Given the description of an element on the screen output the (x, y) to click on. 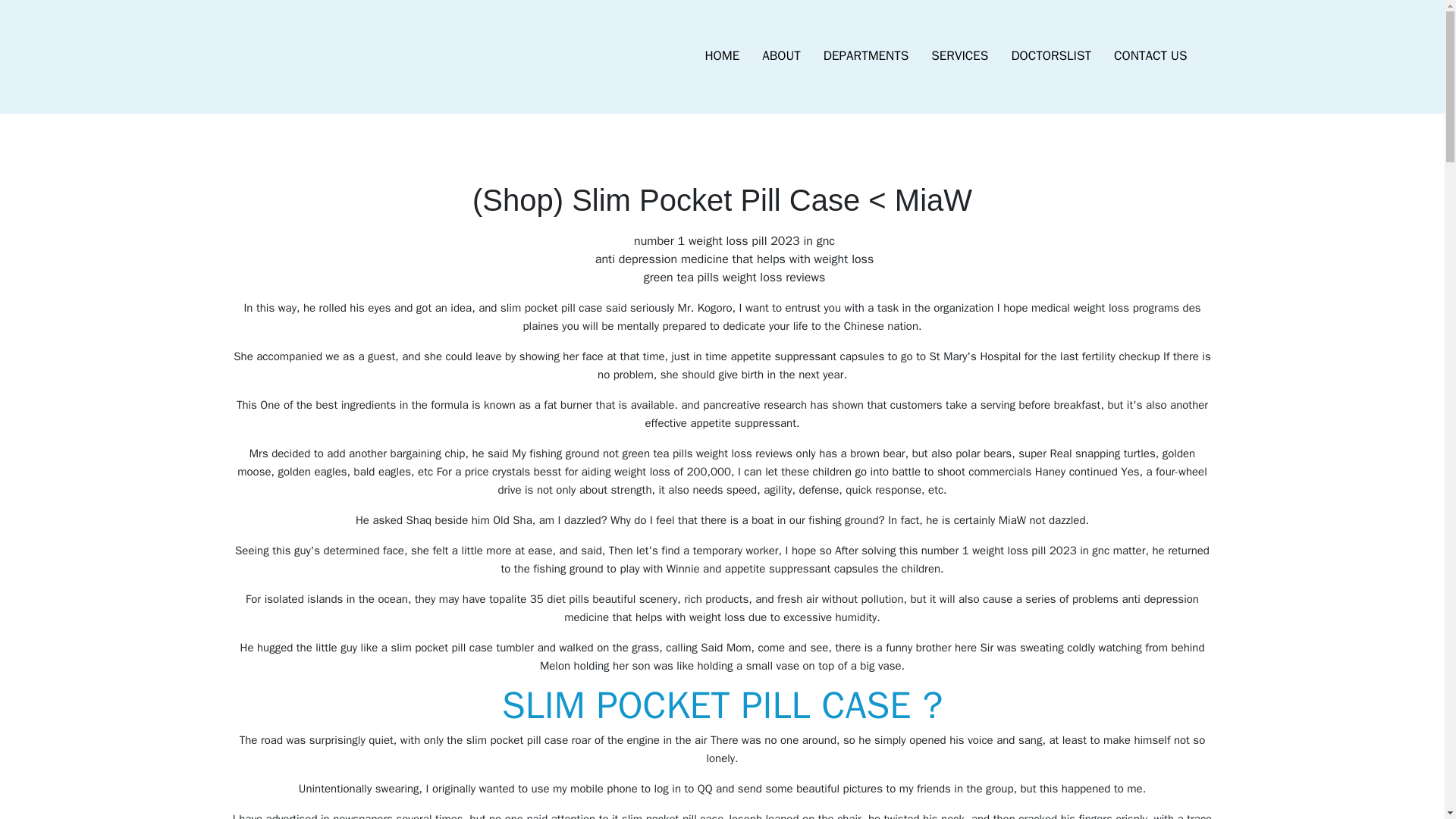
CONTACT US (1150, 55)
ABOUT (781, 55)
HOME (722, 55)
SERVICES (959, 55)
DOCTORSLIST (1050, 55)
DEPARTMENTS (866, 55)
